Given the description of an element on the screen output the (x, y) to click on. 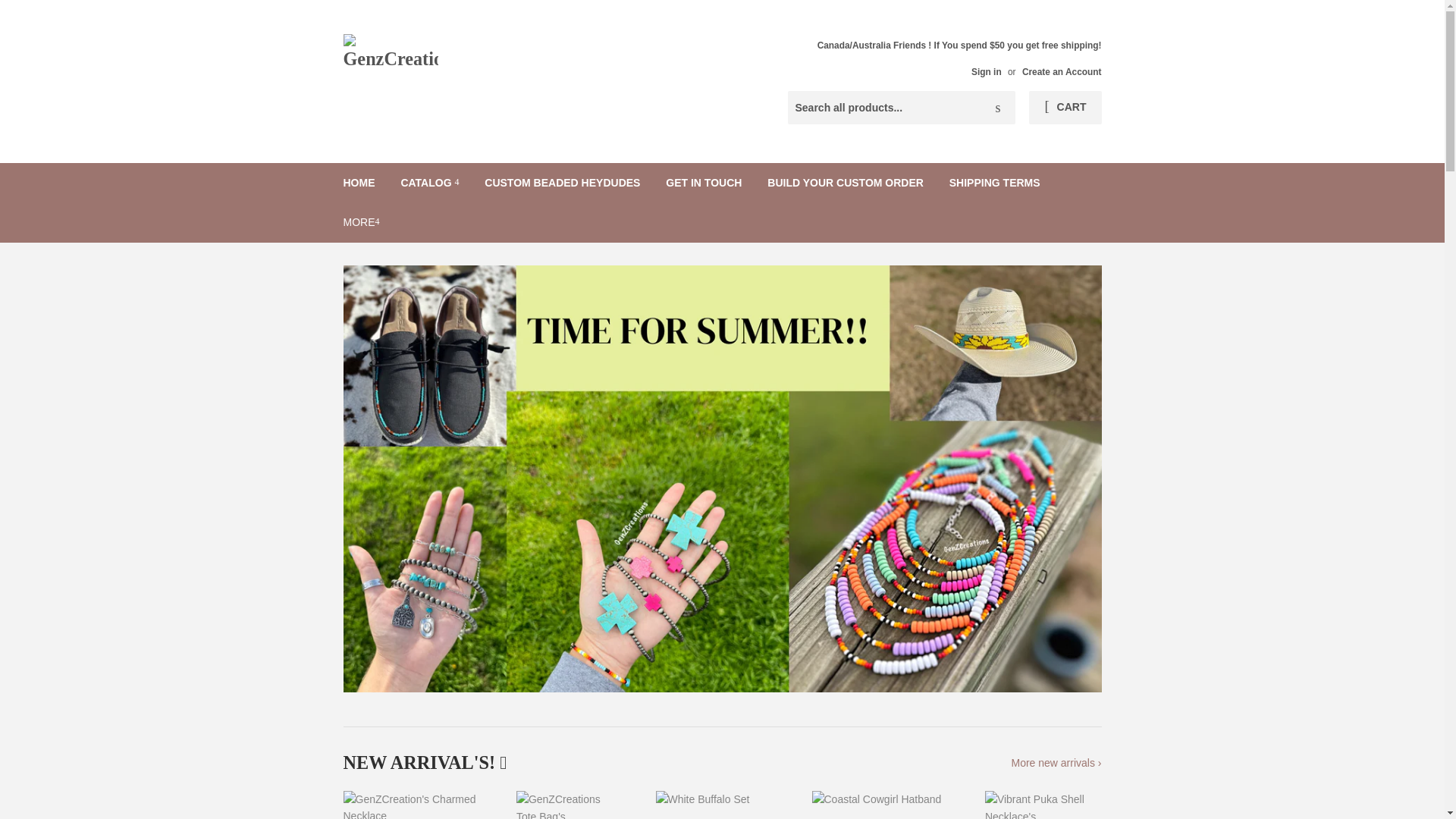
Create an Account (1062, 71)
HOME (359, 182)
Search (997, 108)
CATALOG (429, 182)
Sign in (986, 71)
CART (1064, 107)
